Given the description of an element on the screen output the (x, y) to click on. 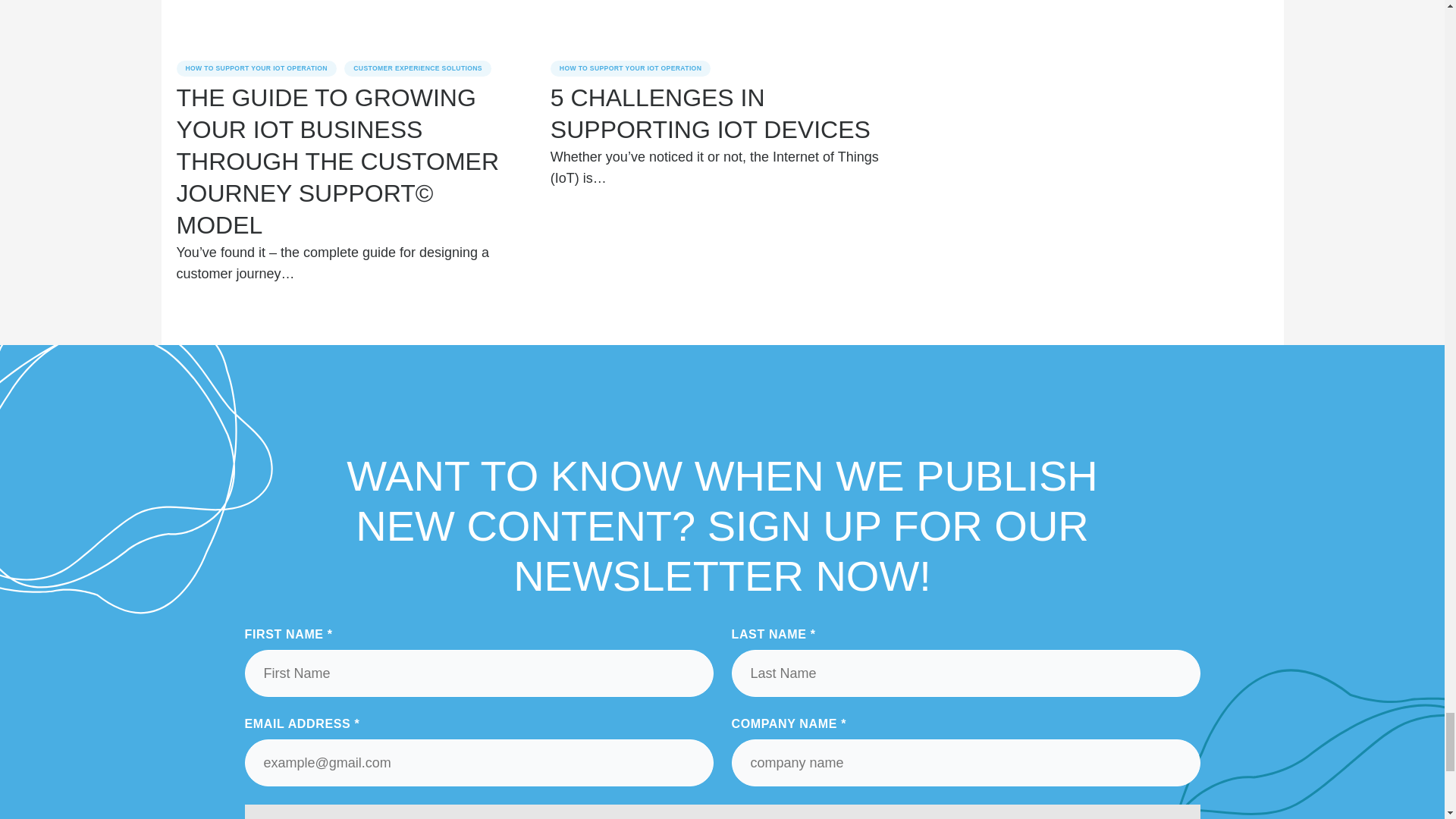
Subscribe (721, 811)
